Given the description of an element on the screen output the (x, y) to click on. 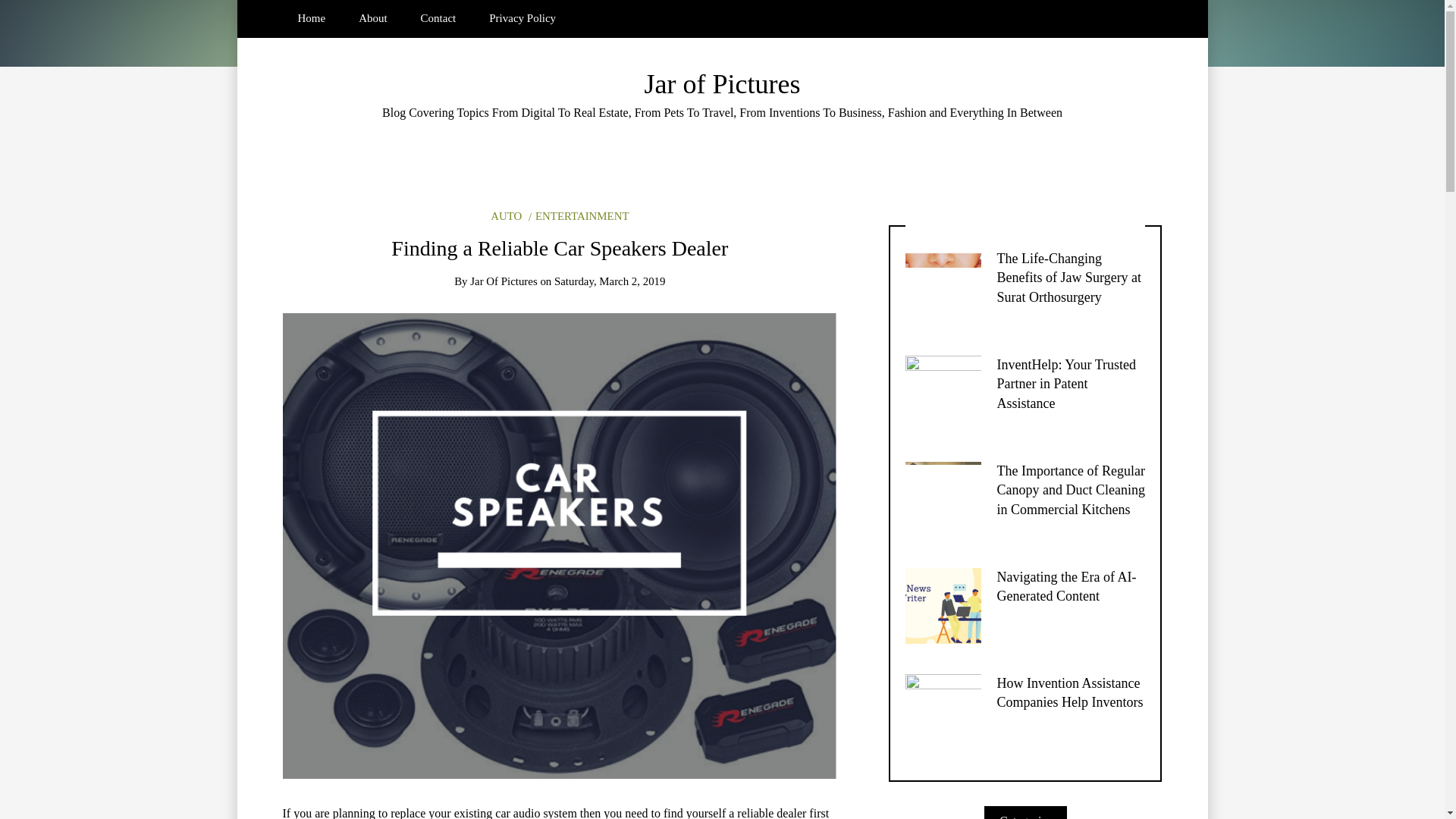
Home (311, 18)
InventHelp: Your Trusted Partner in Patent Assistance (1065, 383)
About (372, 18)
Permalink to: "Finding a Reliable Car Speakers Dealer" (559, 544)
Saturday, March 2, 2019 (609, 281)
ENTERTAINMENT (578, 215)
AUTO (505, 215)
